Given the description of an element on the screen output the (x, y) to click on. 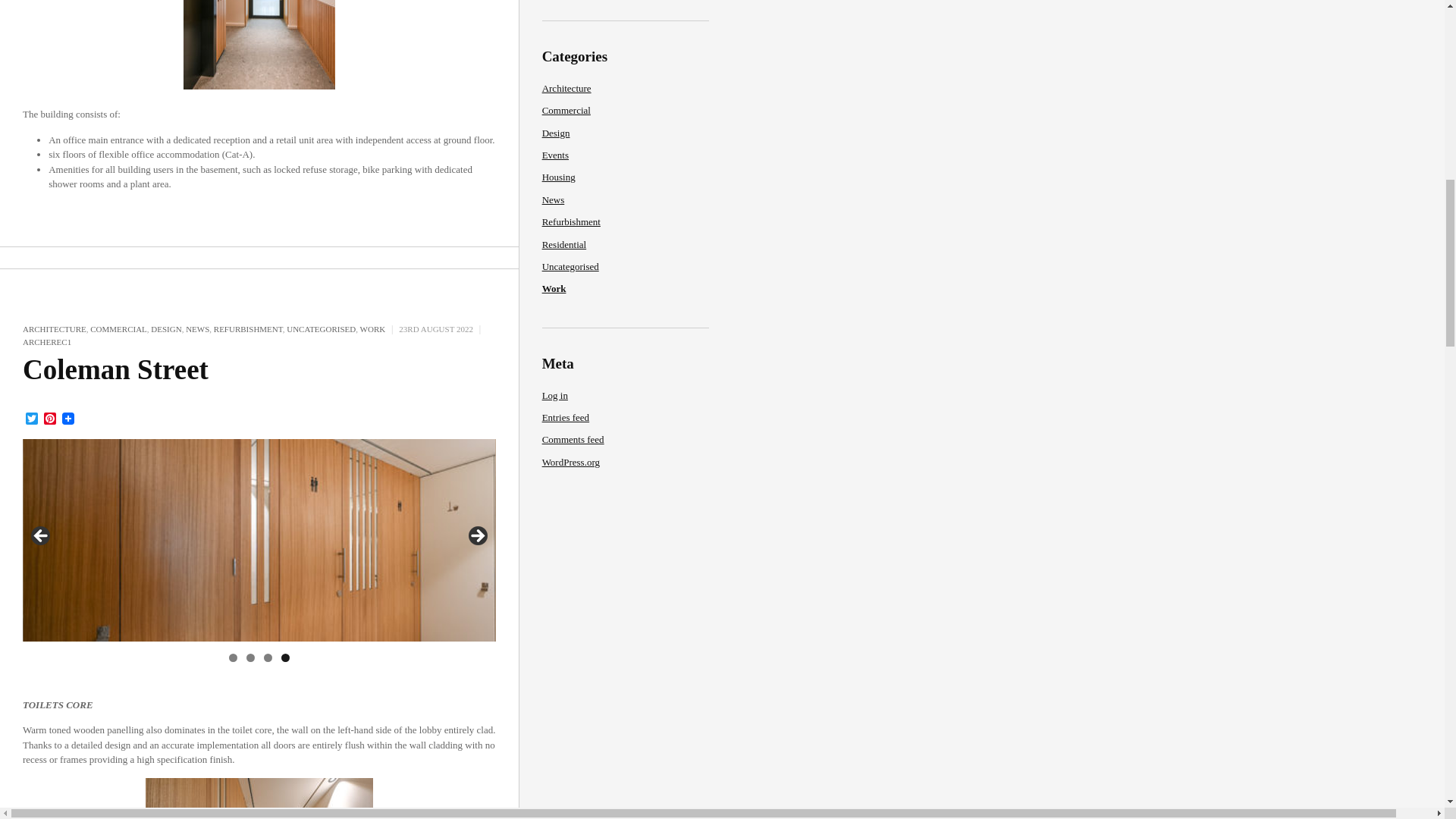
Permanent Link to Coleman Street (115, 368)
WORK (372, 328)
COMMERCIAL (118, 328)
NEWS (197, 328)
Pinterest (49, 419)
ARCHEREC1 (47, 341)
ARCHITECTURE (54, 328)
Twitter (31, 419)
View all posts by archerEC1 (47, 341)
DESIGN (165, 328)
REFURBISHMENT (248, 328)
UNCATEGORISED (320, 328)
